Given the description of an element on the screen output the (x, y) to click on. 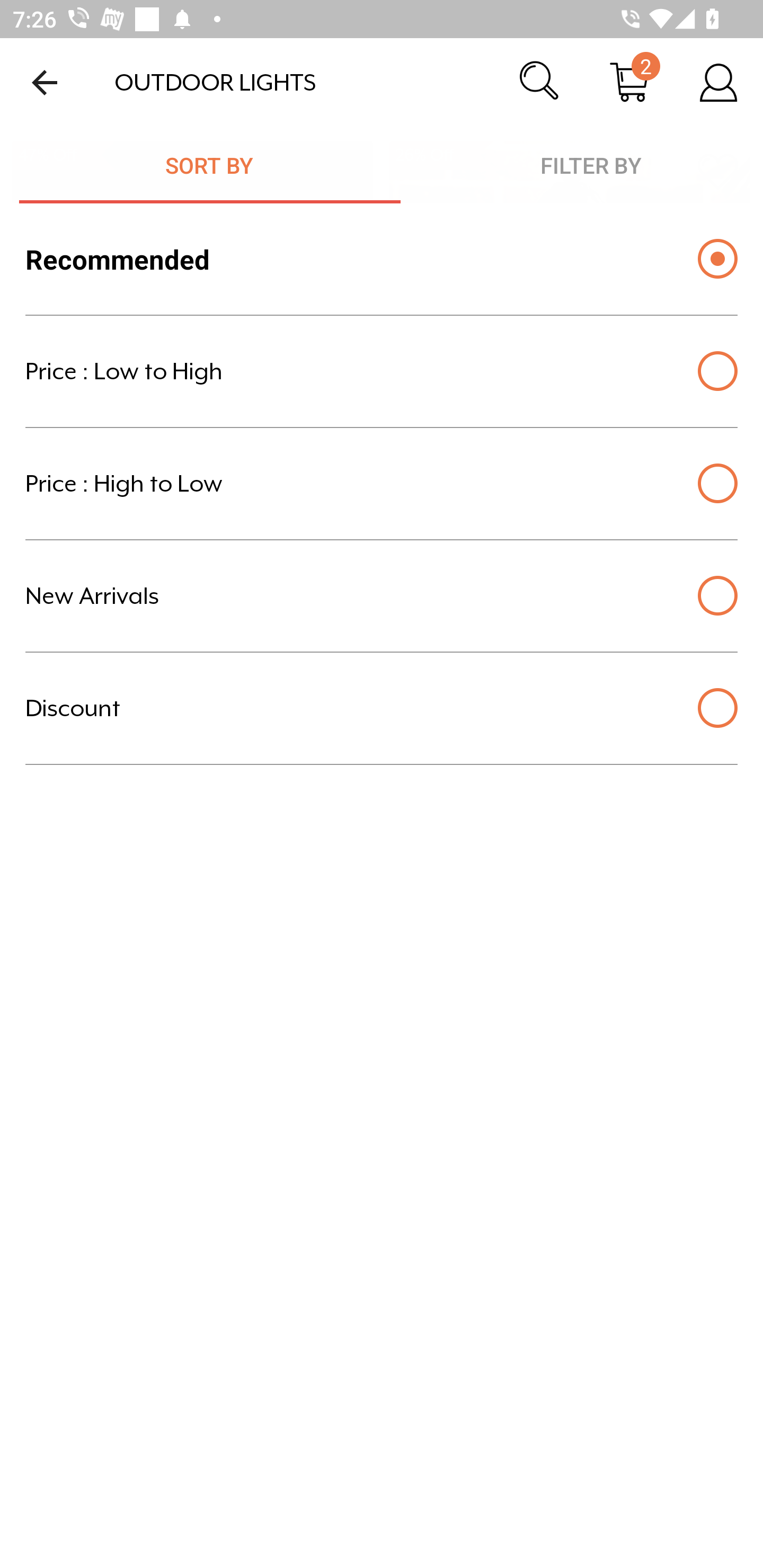
Navigate up (44, 82)
Search (540, 81)
Cart (629, 81)
Account Details (718, 81)
Sort By SORT BY (209, 165)
Filter By FILTER BY (581, 165)
Recommended (381, 259)
Price : Low to High (381, 370)
Price : High to Low (381, 483)
New Arrivals (381, 596)
Discount (381, 707)
